Given the description of an element on the screen output the (x, y) to click on. 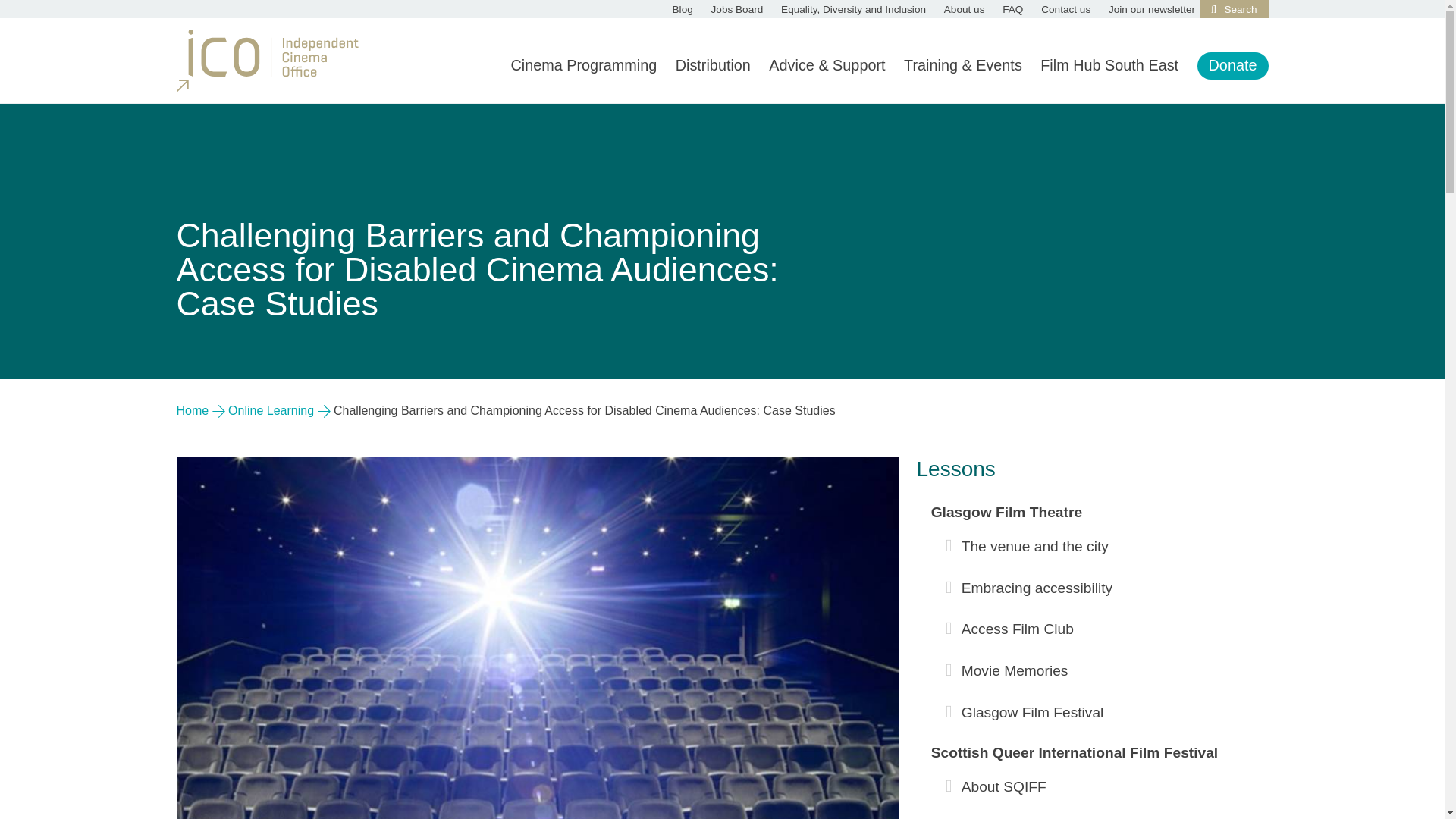
Film Hub South East (1109, 64)
Equality, Diversity and Inclusion (853, 9)
About us (964, 9)
Contact us (1065, 9)
FAQ (1013, 9)
Join our newsletter (1151, 9)
Distribution (713, 64)
Cinema Programming (583, 64)
Blog (682, 9)
Jobs Board (736, 9)
Donate (1232, 64)
